Given the description of an element on the screen output the (x, y) to click on. 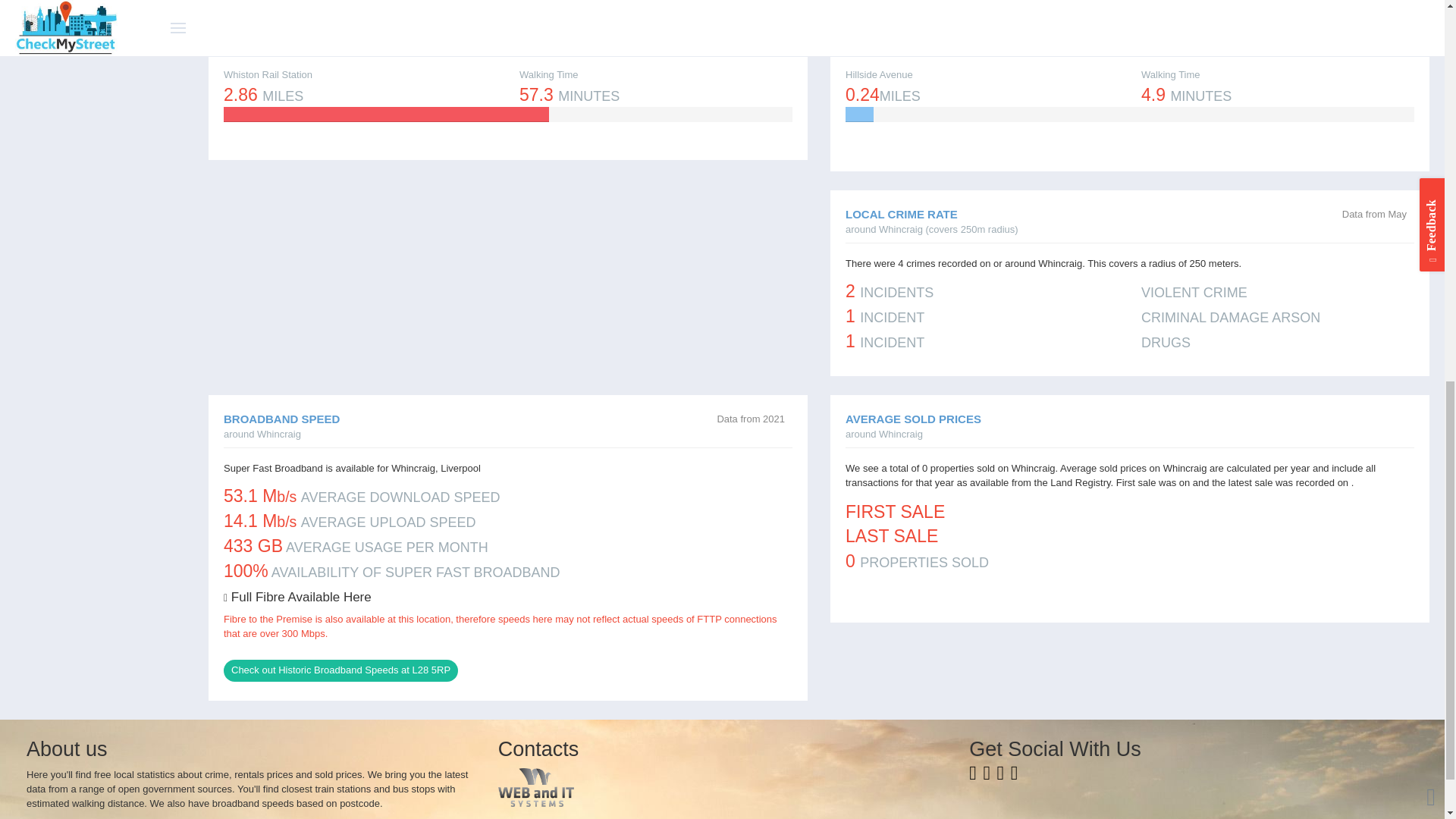
on (1347, 214)
on (721, 419)
on (1411, 424)
Find us on Instagram (1003, 776)
View Historic Broadband Speeds at L28 5RP (341, 670)
Check out Historic Broadband Speeds at L28 5RP (341, 670)
Find us on Twitter - Tweet us (988, 776)
Find us on Facebook - Like us (974, 776)
Contact Us - Email us (1013, 776)
Web and IT Systems Chester, Web development Chester (722, 787)
